Given the description of an element on the screen output the (x, y) to click on. 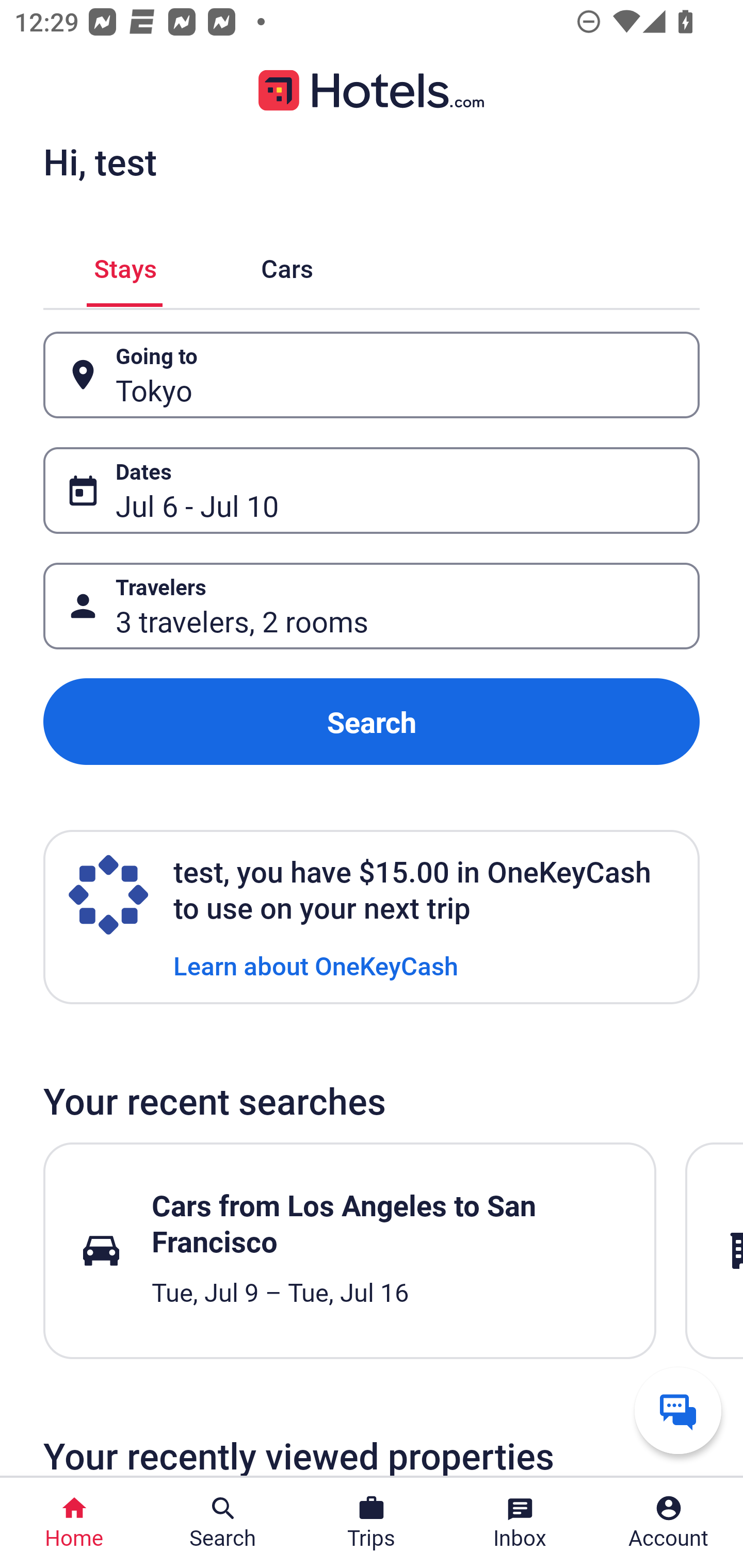
Hi, test (99, 161)
Cars (286, 265)
Going to Button Tokyo (371, 375)
Dates Button Jul 6 - Jul 10 (371, 489)
Travelers Button 3 travelers, 2 rooms (371, 605)
Search (371, 721)
Learn about OneKeyCash Learn about OneKeyCash Link (315, 964)
Get help from a virtual agent (677, 1410)
Search Search Button (222, 1522)
Trips Trips Button (371, 1522)
Inbox Inbox Button (519, 1522)
Account Profile. Button (668, 1522)
